Given the description of an element on the screen output the (x, y) to click on. 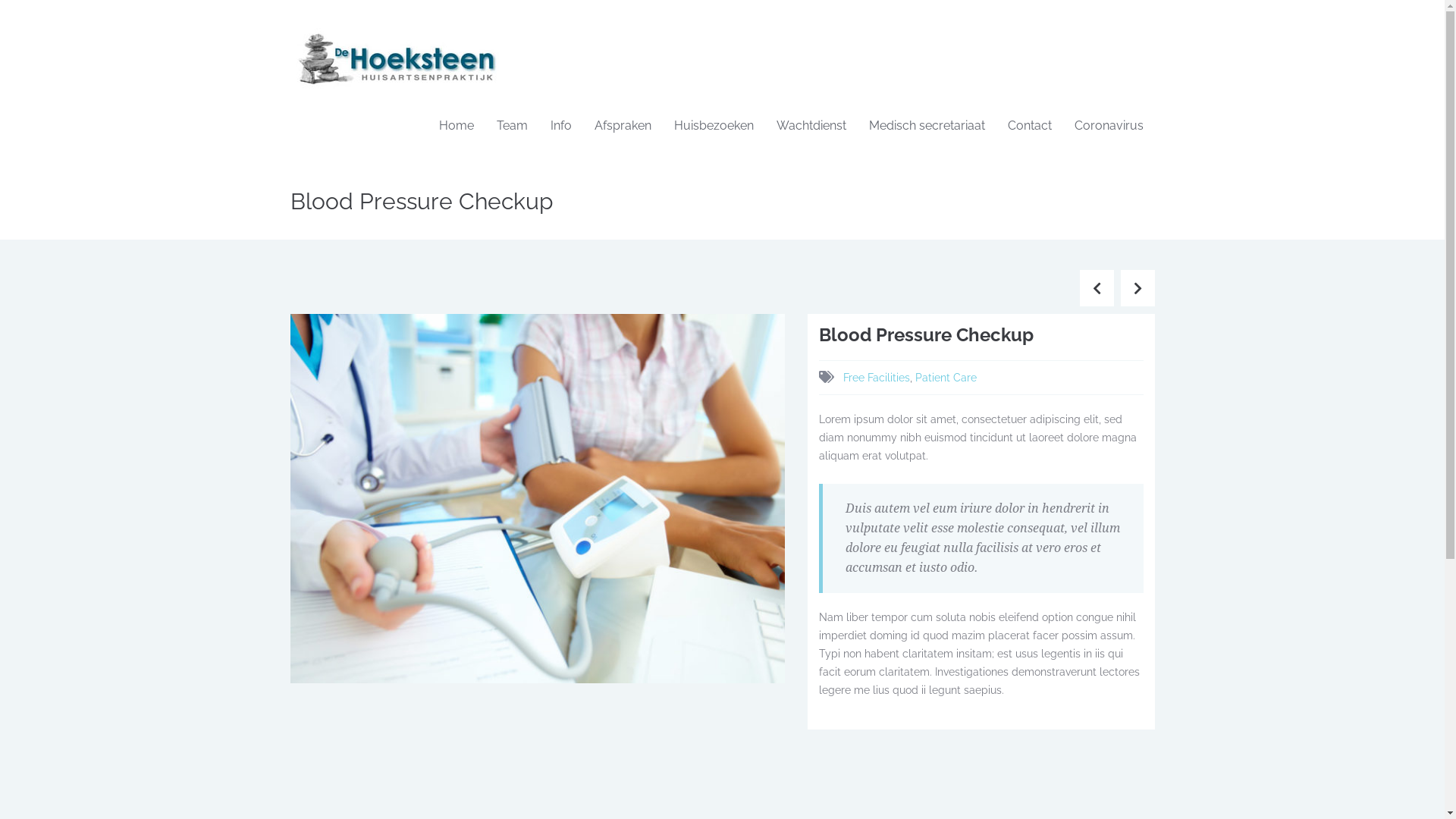
Home Element type: text (456, 126)
Blood Pressure Checkup Element type: hover (536, 497)
Wachtdienst Element type: text (810, 126)
Team Element type: text (512, 126)
Info Element type: text (560, 126)
Huisbezoeken Element type: text (713, 126)
Free Facilities Element type: text (876, 377)
Medisch secretariaat Element type: text (925, 126)
Afspraken Element type: text (622, 126)
Contact Element type: text (1029, 126)
Coronavirus Element type: text (1108, 126)
Patient Care Element type: text (945, 377)
